Given the description of an element on the screen output the (x, y) to click on. 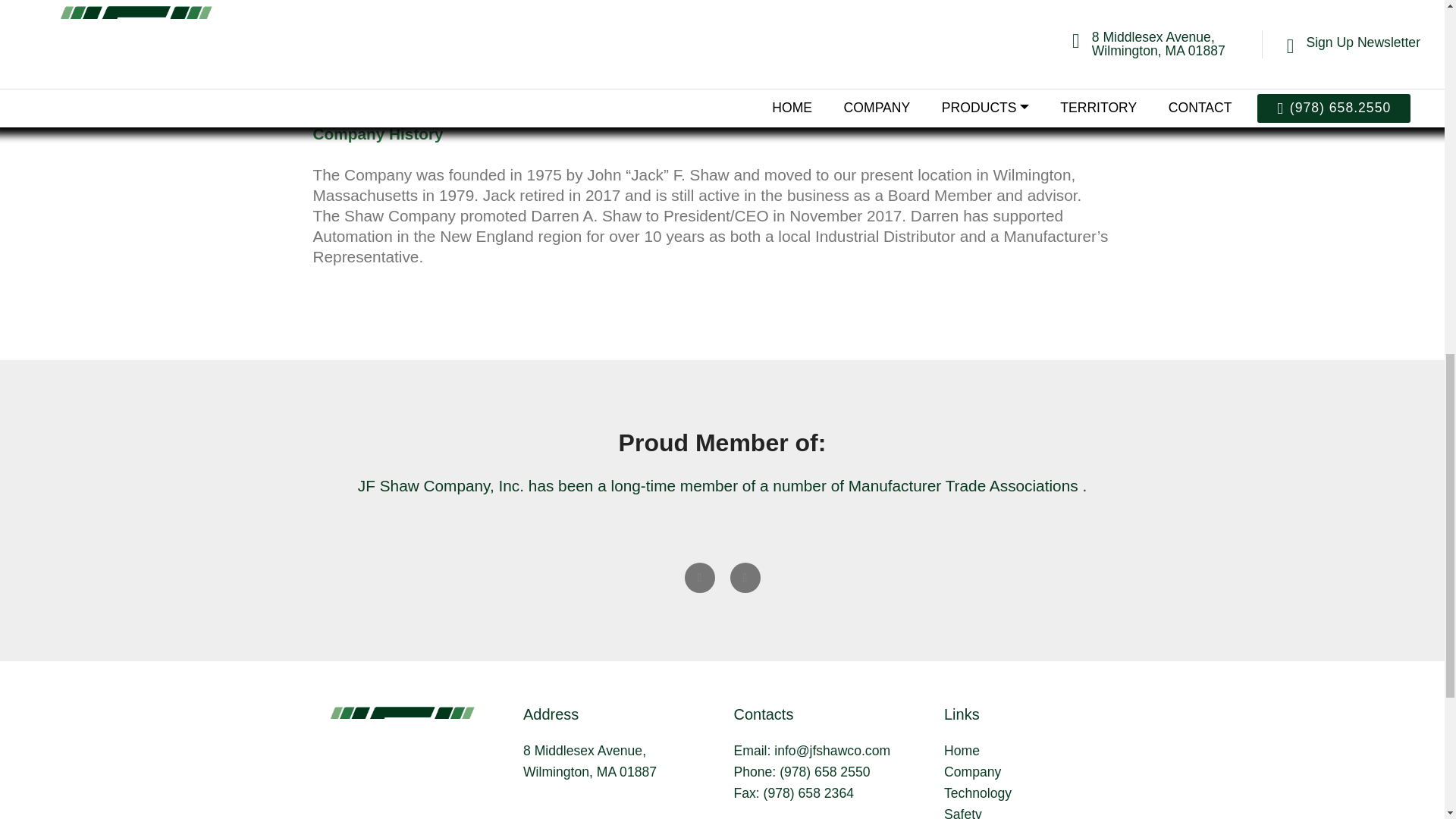
Company (972, 771)
Safety (962, 812)
Next (744, 577)
Technology (977, 792)
Previous (699, 577)
Home (961, 750)
